Given the description of an element on the screen output the (x, y) to click on. 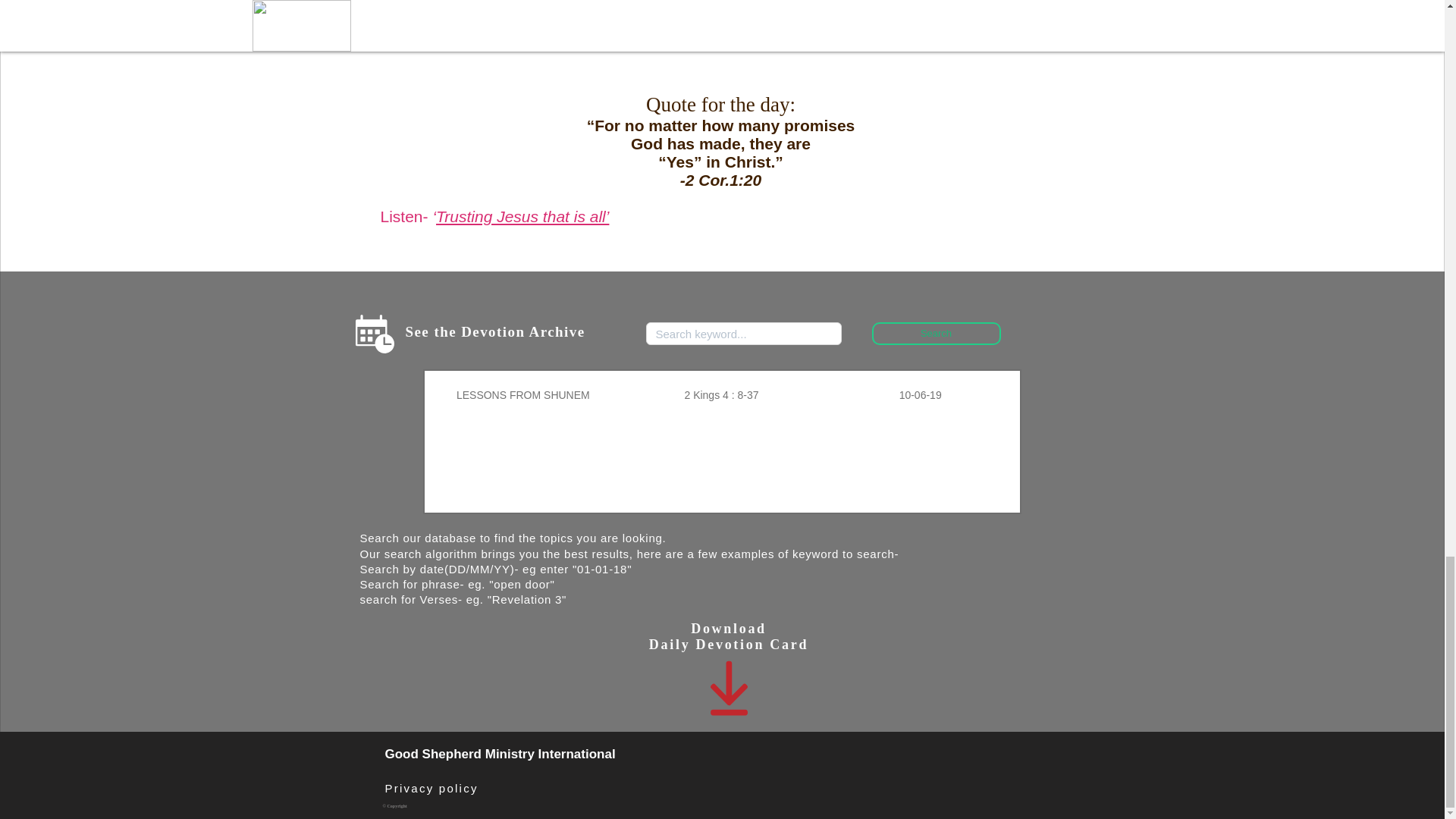
LESSONS FROM SHUNEM (524, 395)
10-06-19 (920, 395)
2 Kings 4 : 8-37 (722, 395)
Privacy policy (432, 788)
